Given the description of an element on the screen output the (x, y) to click on. 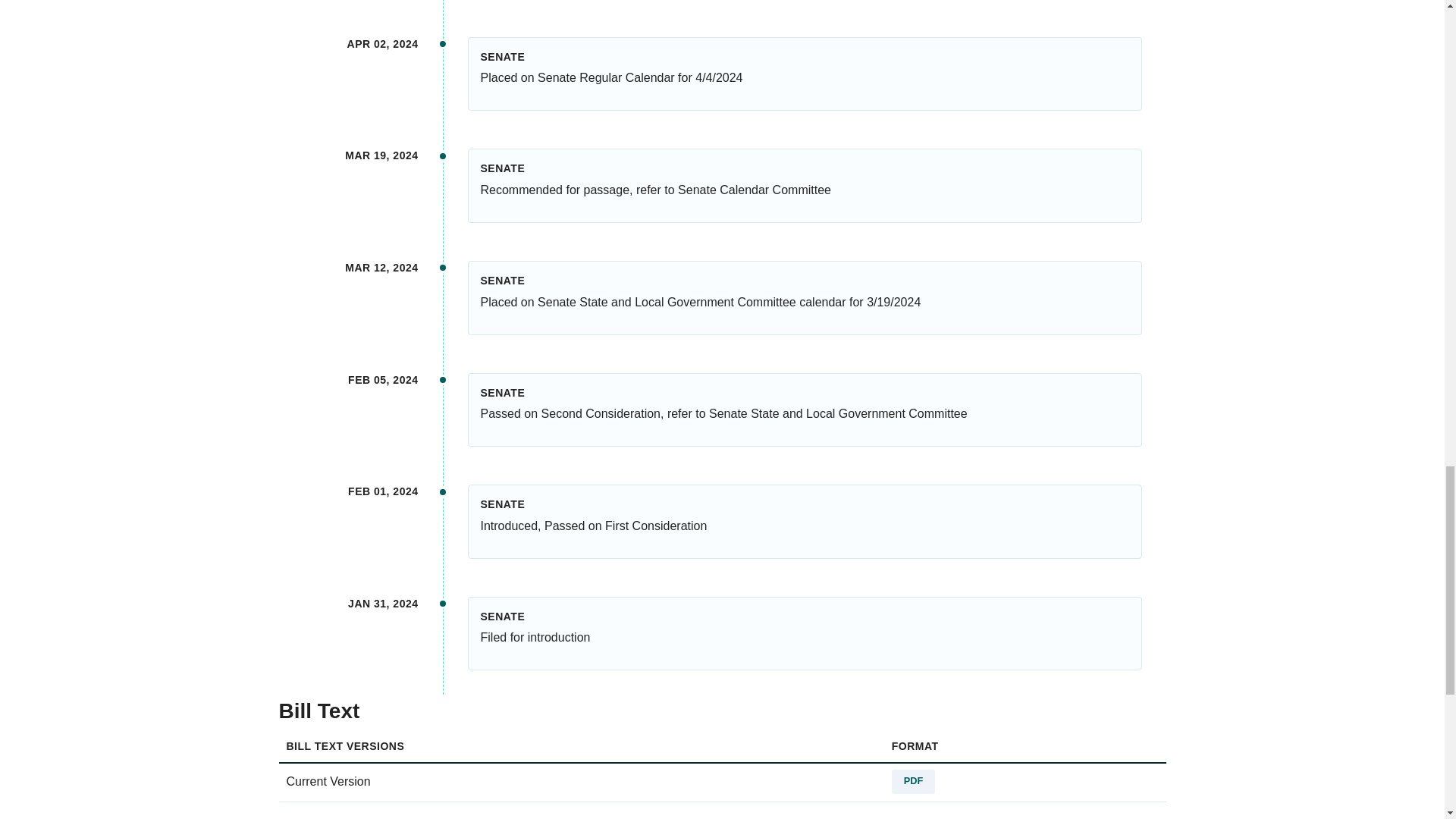
PDF (913, 781)
